Given the description of an element on the screen output the (x, y) to click on. 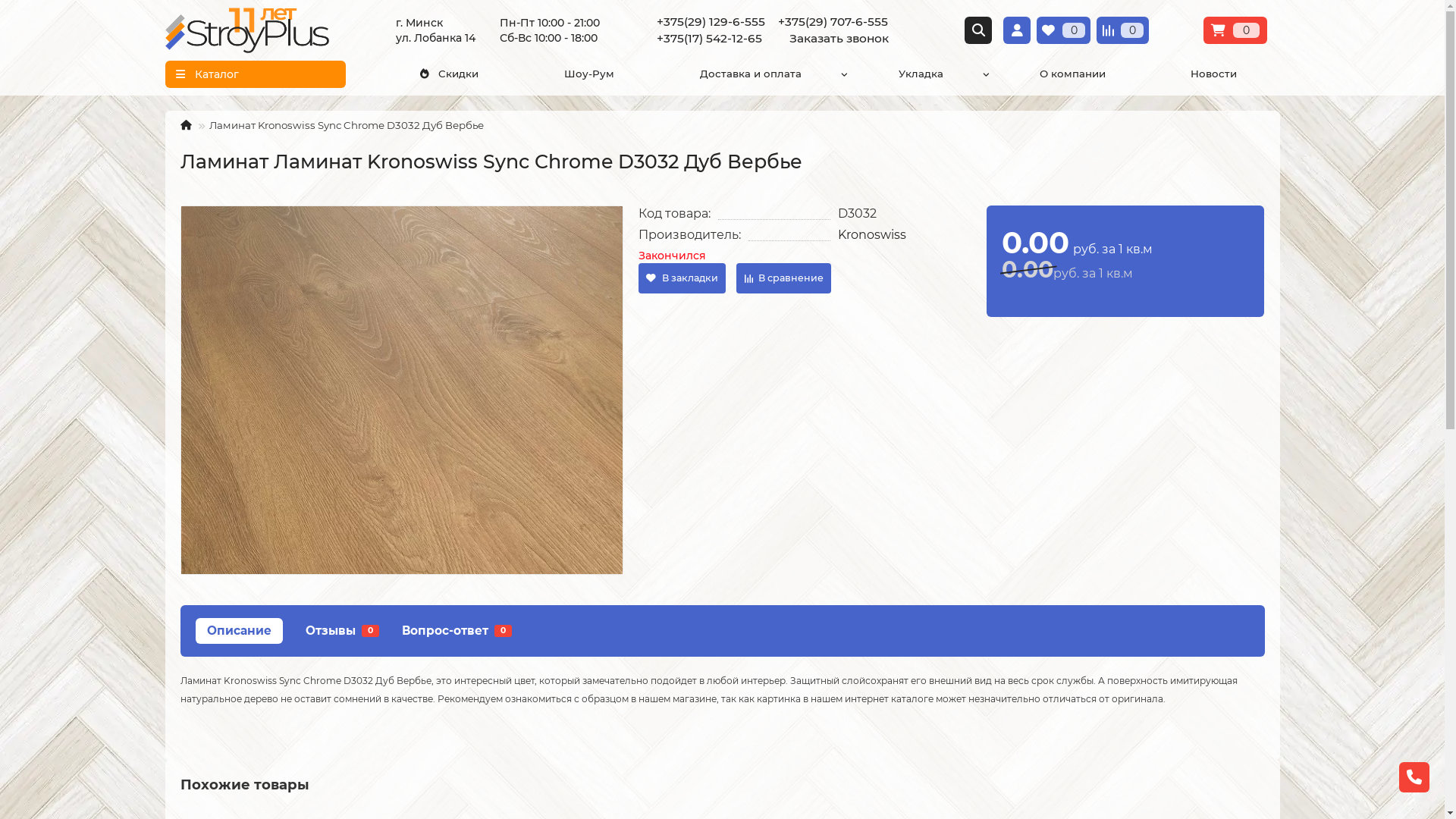
Kronoswiss Element type: text (871, 235)
0 Element type: text (1234, 29)
StroyPlus.by Element type: hover (247, 30)
